Given the description of an element on the screen output the (x, y) to click on. 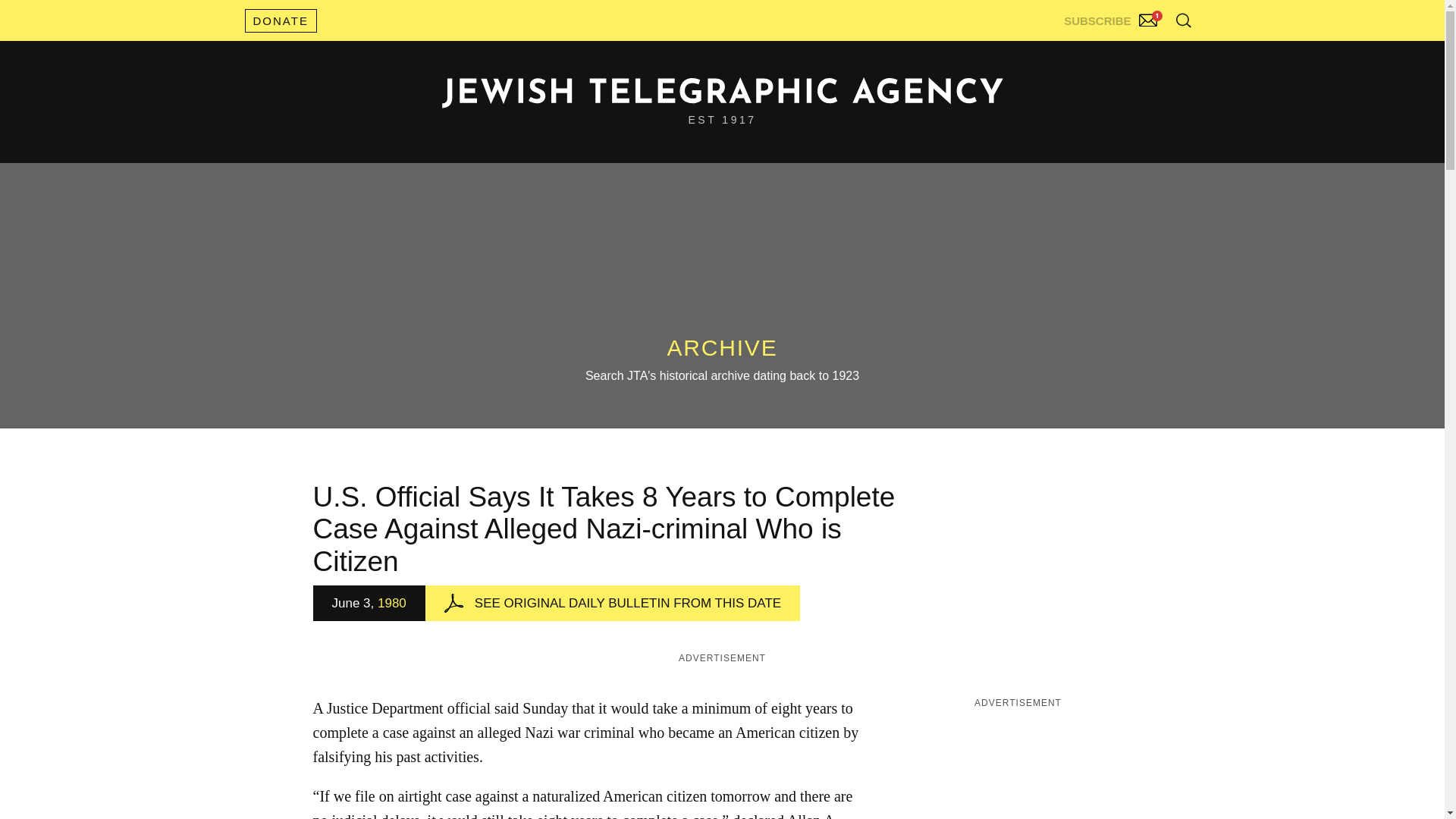
Search (1144, 53)
SUBSCRIBE (1112, 17)
SEARCH TOGGLESEARCH TOGGLE (1182, 20)
DONATE (279, 20)
